Given the description of an element on the screen output the (x, y) to click on. 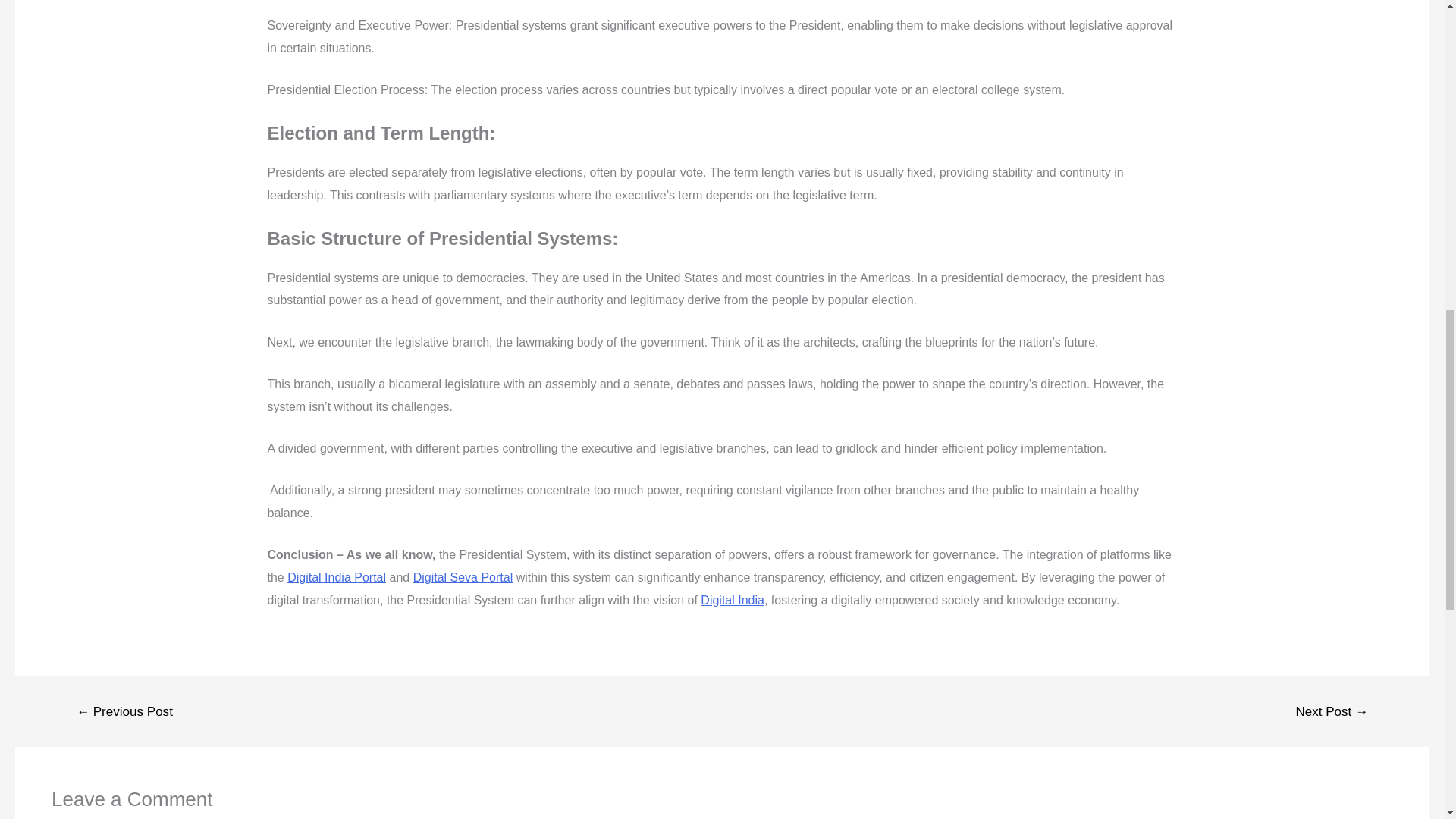
Digital India Portal (335, 576)
Digital Seva Portal (463, 576)
Digital India (732, 599)
